Given the description of an element on the screen output the (x, y) to click on. 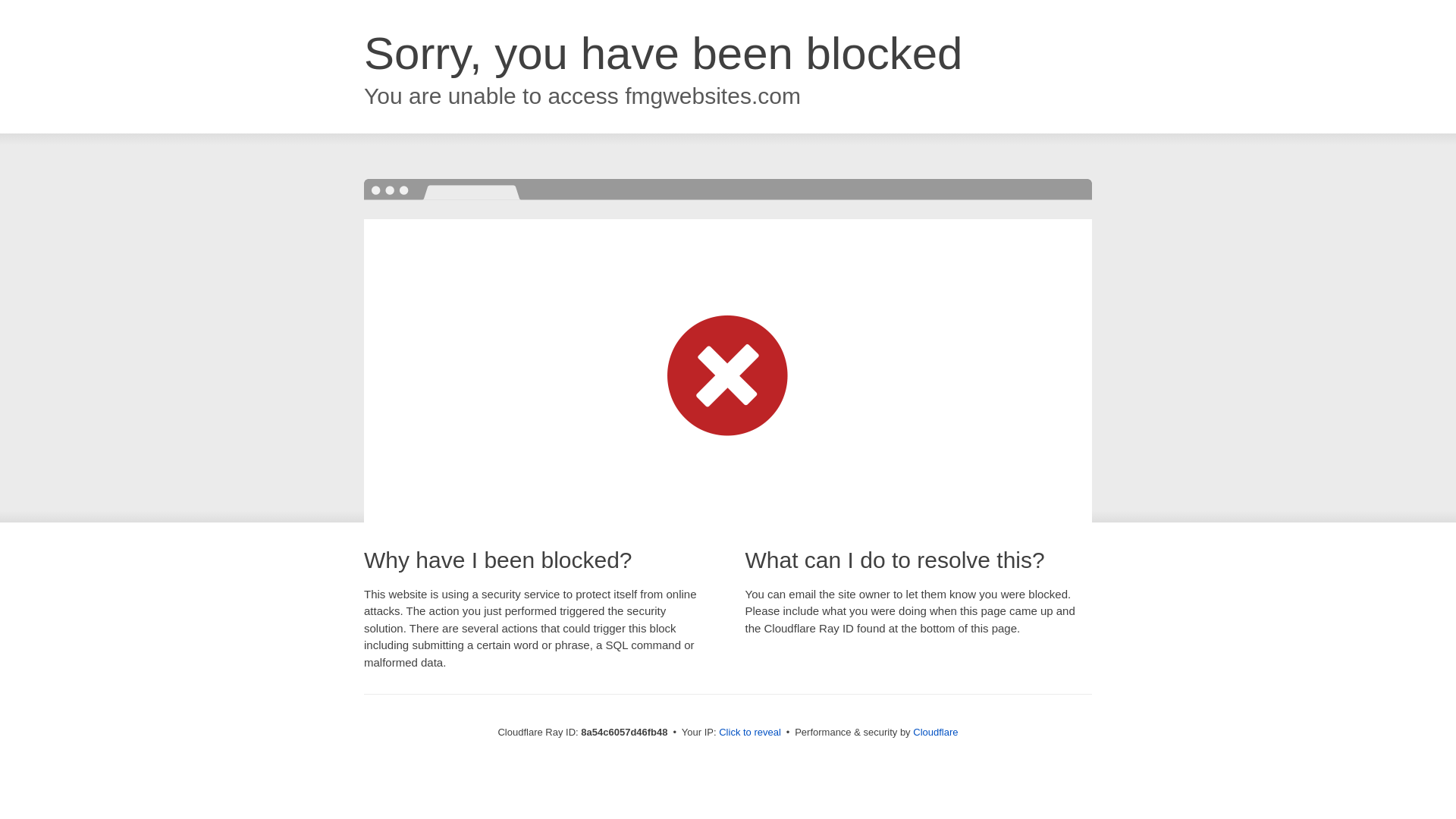
Click to reveal (749, 732)
Cloudflare (935, 731)
